Given the description of an element on the screen output the (x, y) to click on. 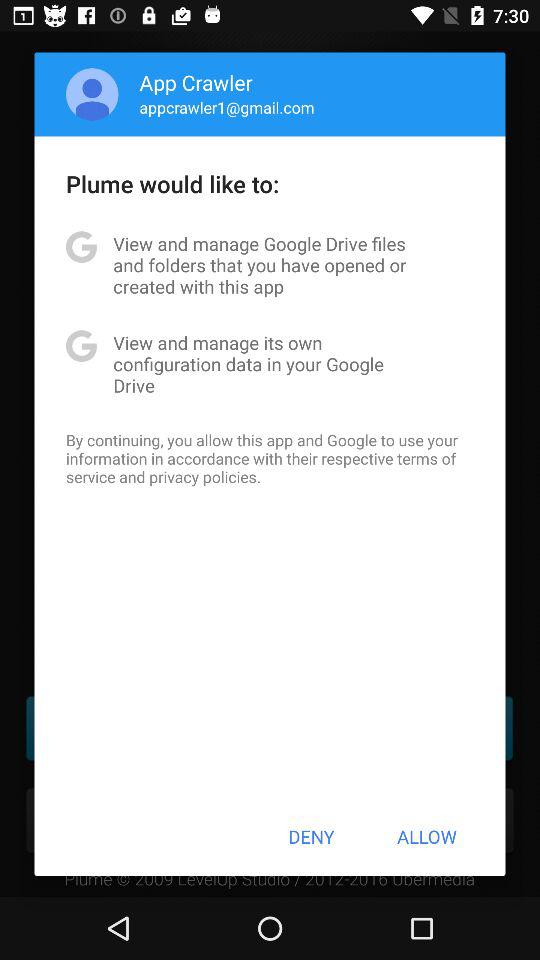
choose the app to the left of app crawler icon (92, 94)
